Given the description of an element on the screen output the (x, y) to click on. 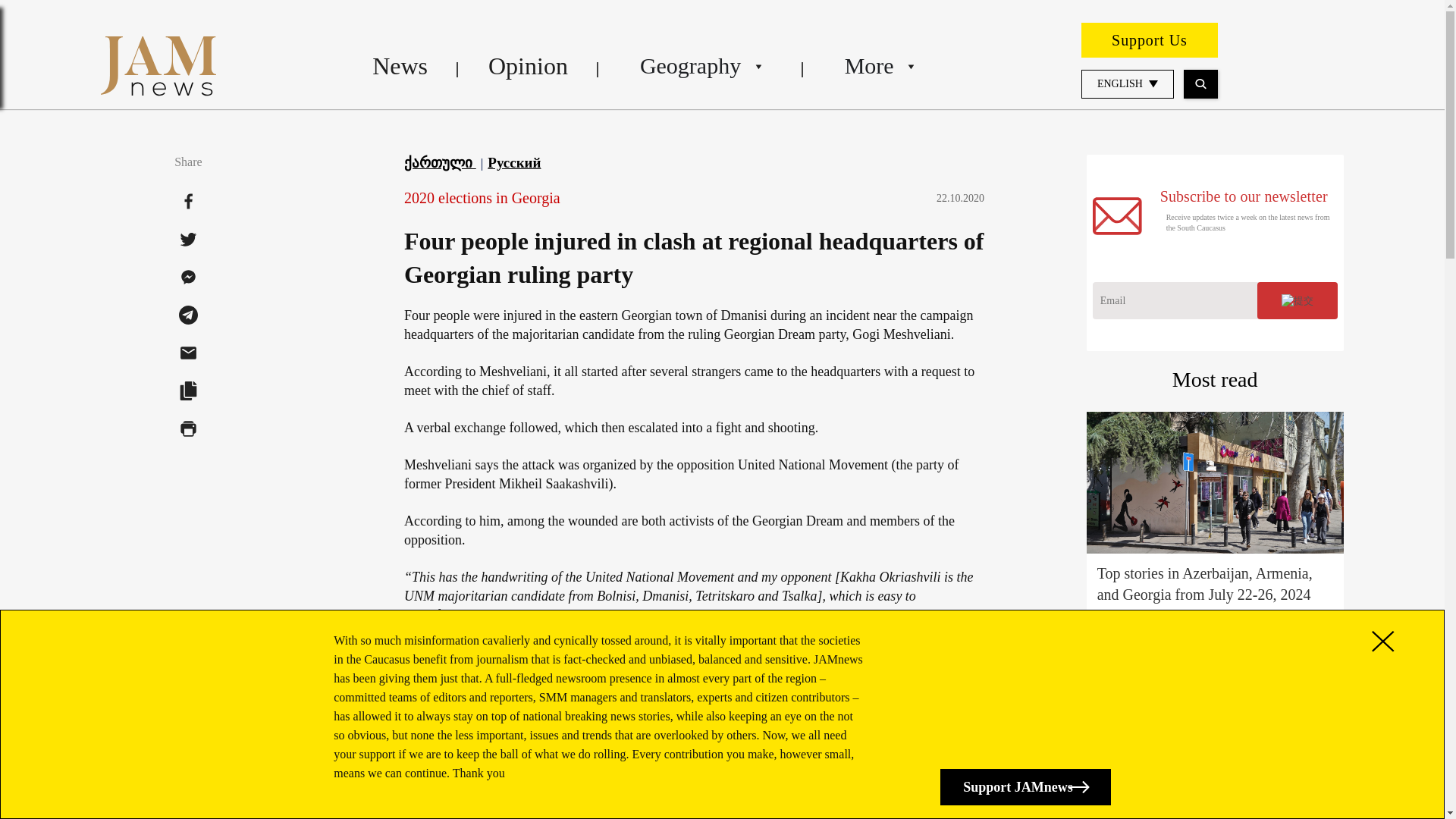
More (878, 65)
Support Us (1149, 39)
Opinion (528, 65)
News (400, 65)
Geography (700, 65)
